Given the description of an element on the screen output the (x, y) to click on. 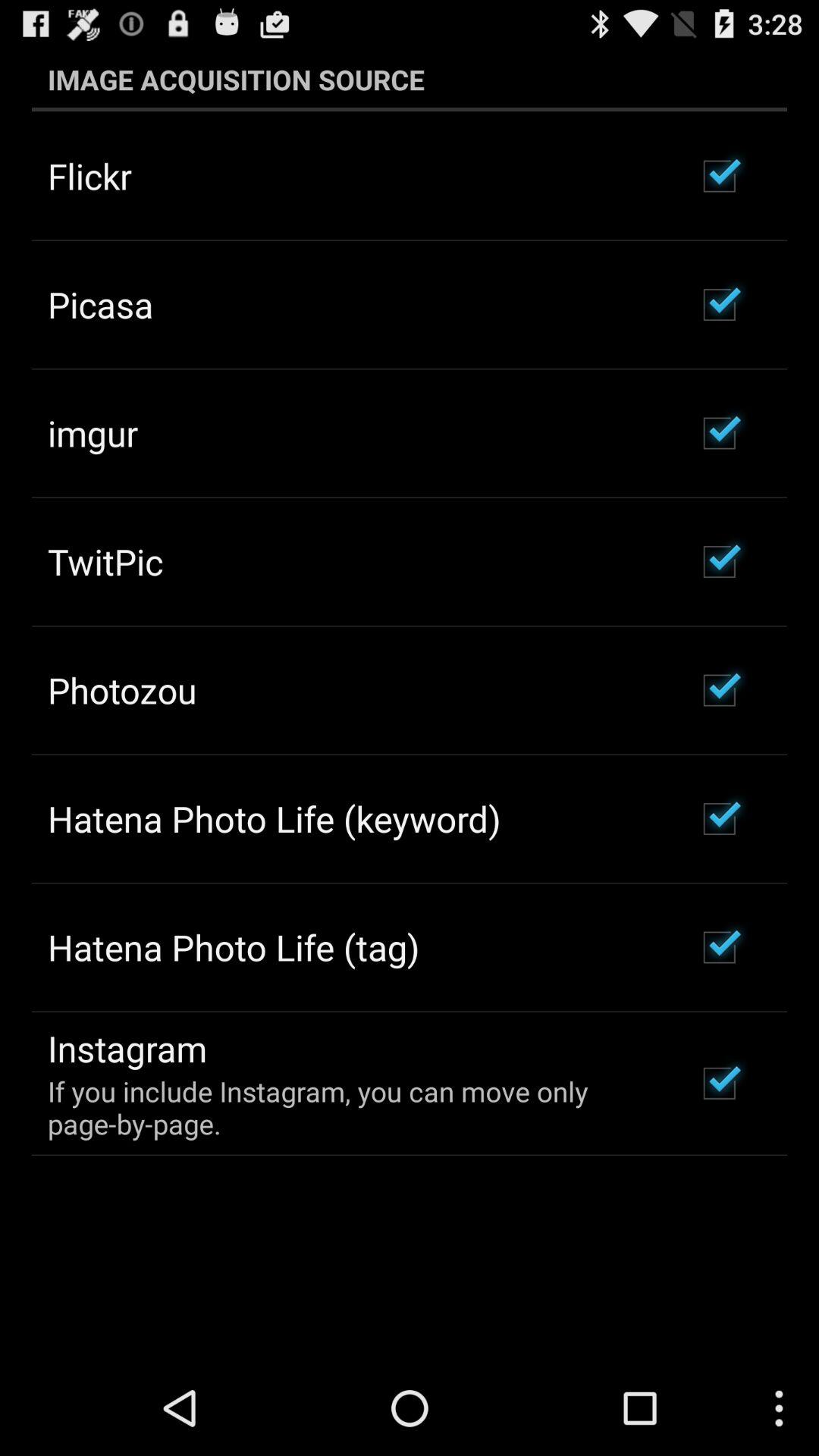
flip until the imgur item (92, 432)
